Given the description of an element on the screen output the (x, y) to click on. 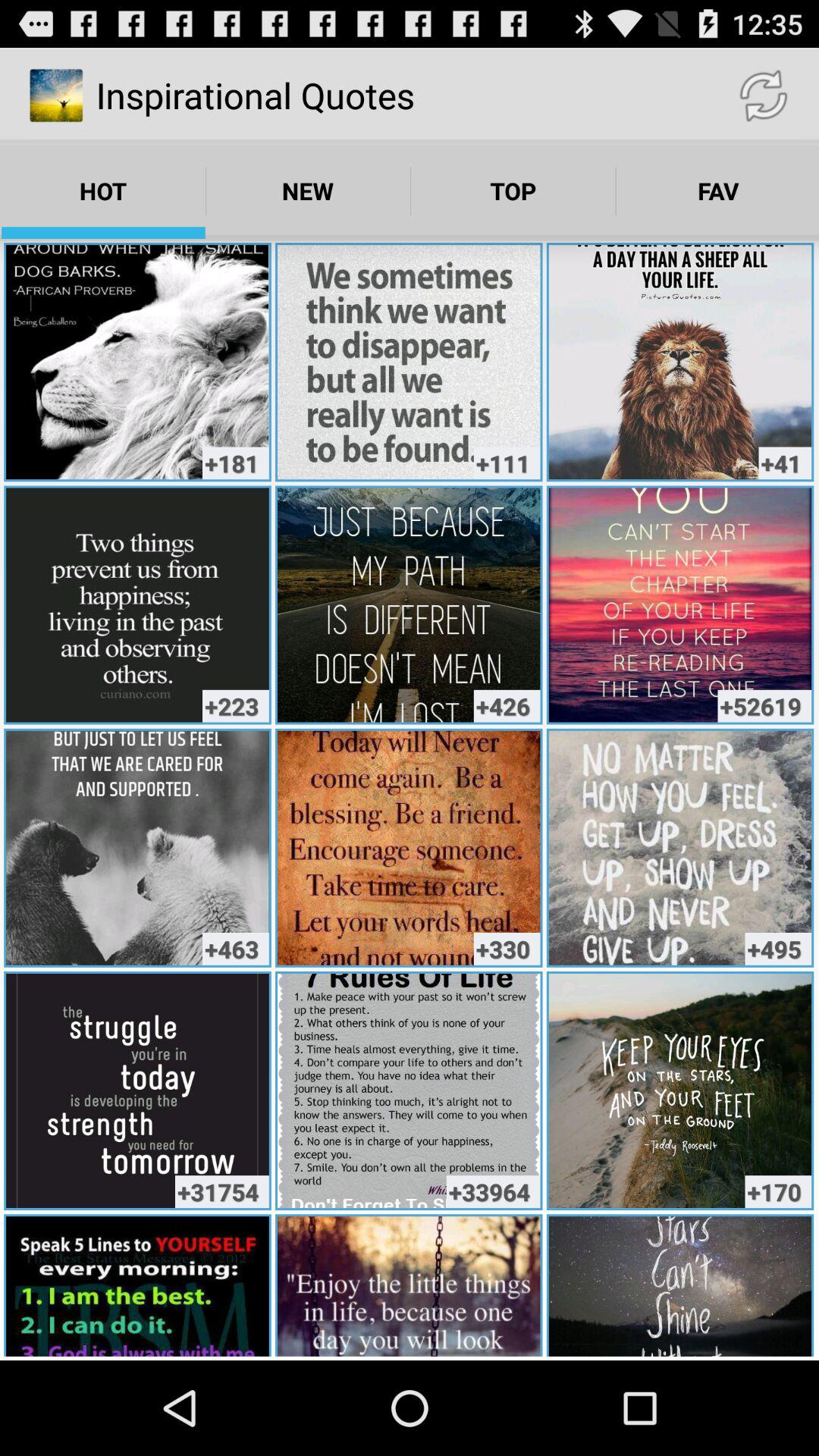
choose the icon to the right of inspirational quotes app (763, 95)
